Given the description of an element on the screen output the (x, y) to click on. 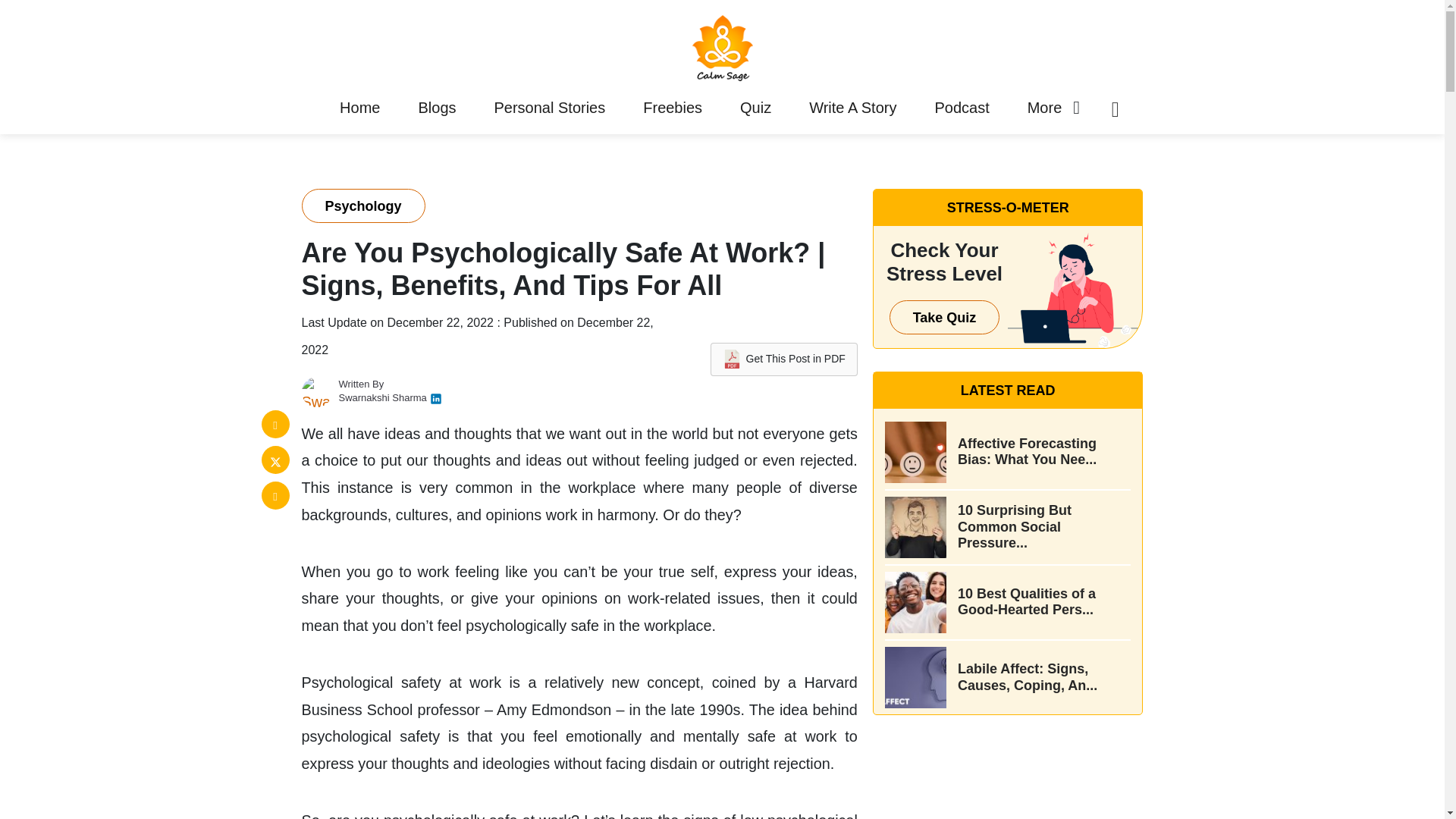
Written By (360, 383)
SEARCH (1075, 408)
Write A Story (852, 107)
Take Quiz (944, 317)
Freebies (672, 107)
Swarnakshi Sharma (381, 397)
Psychology (363, 205)
Personal Stories (548, 107)
More (1045, 107)
Get This Post in PDF (783, 359)
Blogs (436, 107)
Podcast (961, 107)
Home (360, 107)
Quiz (756, 107)
